Given the description of an element on the screen output the (x, y) to click on. 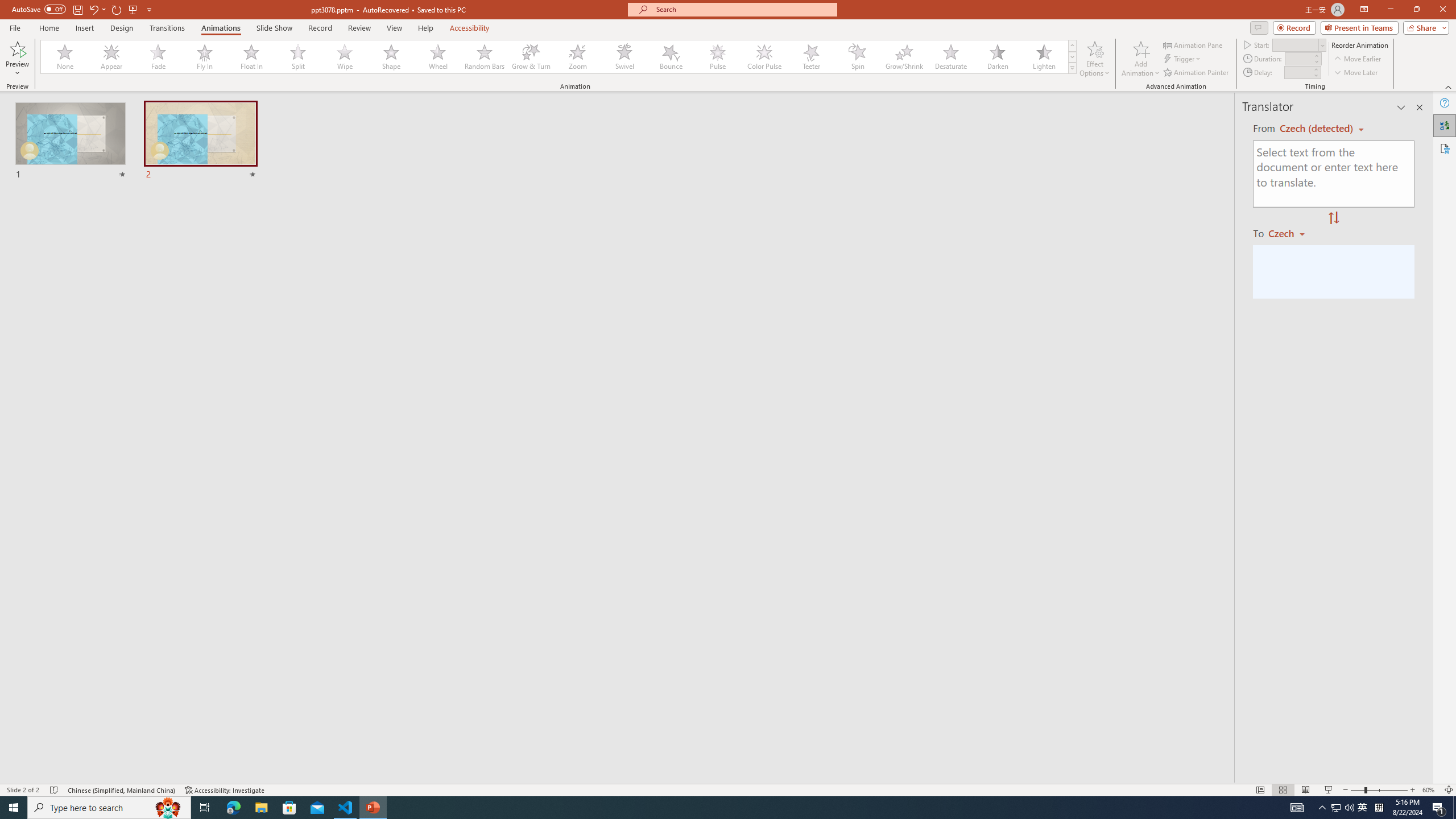
Grow/Shrink (903, 56)
Zoom 60% (1430, 790)
Add Animation (1141, 58)
